Given the description of an element on the screen output the (x, y) to click on. 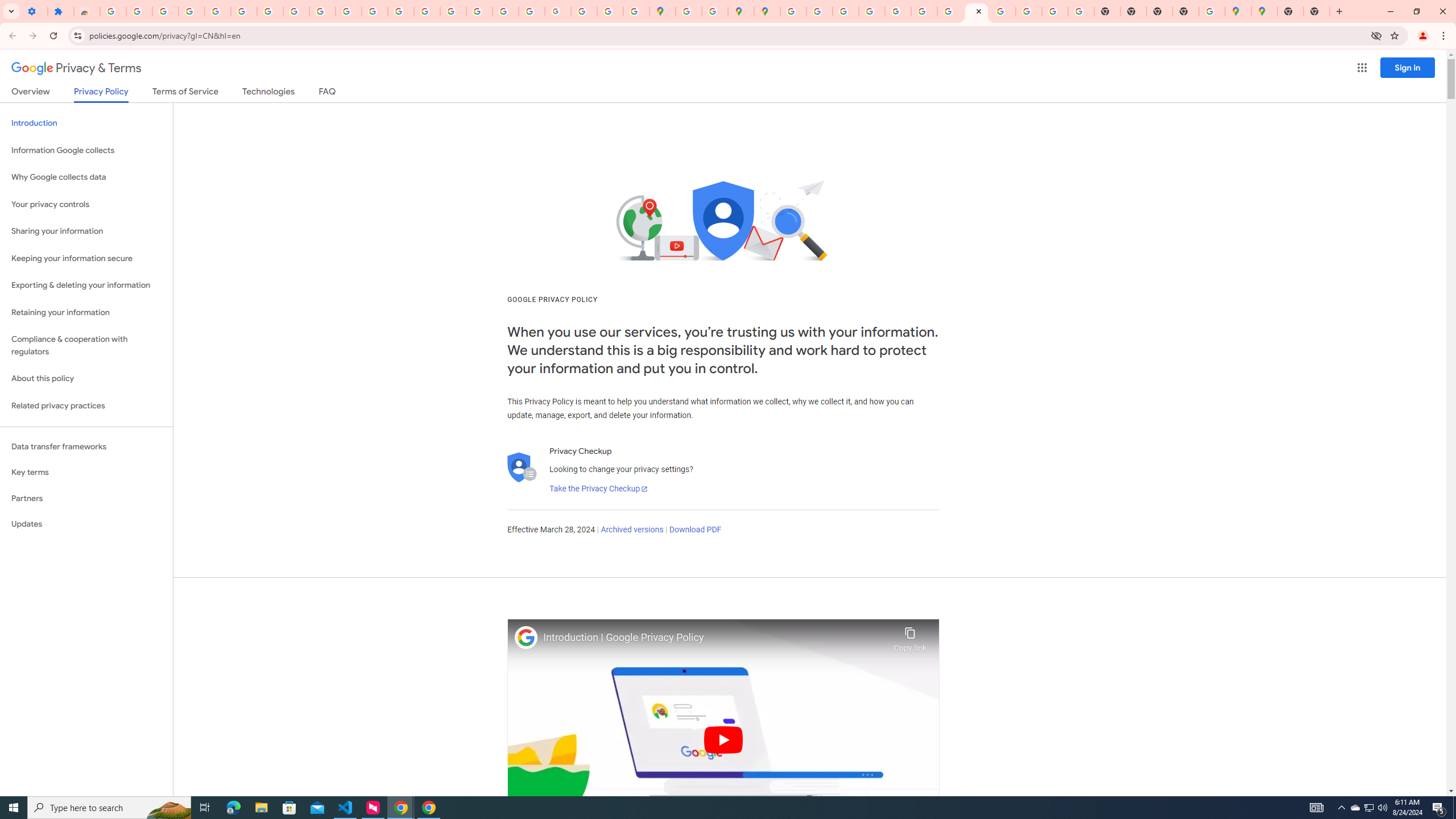
Privacy Help Center - Policies Help (453, 11)
Google Maps (663, 11)
Introduction | Google Privacy Policy (715, 637)
New Tab (1185, 11)
Reviews: Helix Fruit Jump Arcade Game (86, 11)
